Given the description of an element on the screen output the (x, y) to click on. 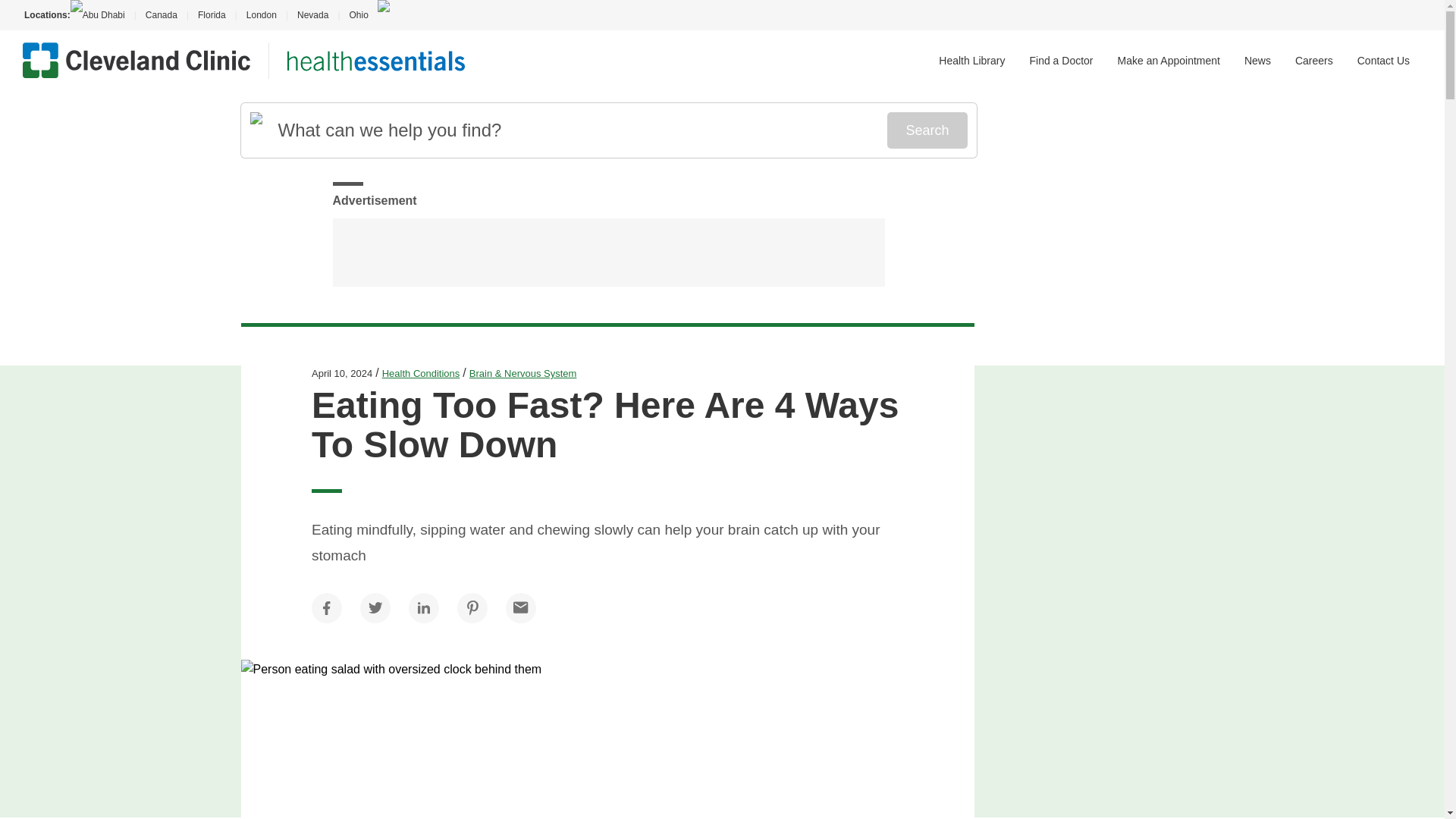
Contact Us (1382, 60)
Abu Dhabi (101, 15)
Health Library (971, 60)
Nevada (312, 15)
Florida (211, 15)
Make an Appointment (1169, 60)
Ohio (358, 15)
London (261, 15)
News (1257, 60)
Careers (1314, 60)
Find a Doctor (1061, 60)
Health Conditions (420, 373)
Canada (161, 15)
